Given the description of an element on the screen output the (x, y) to click on. 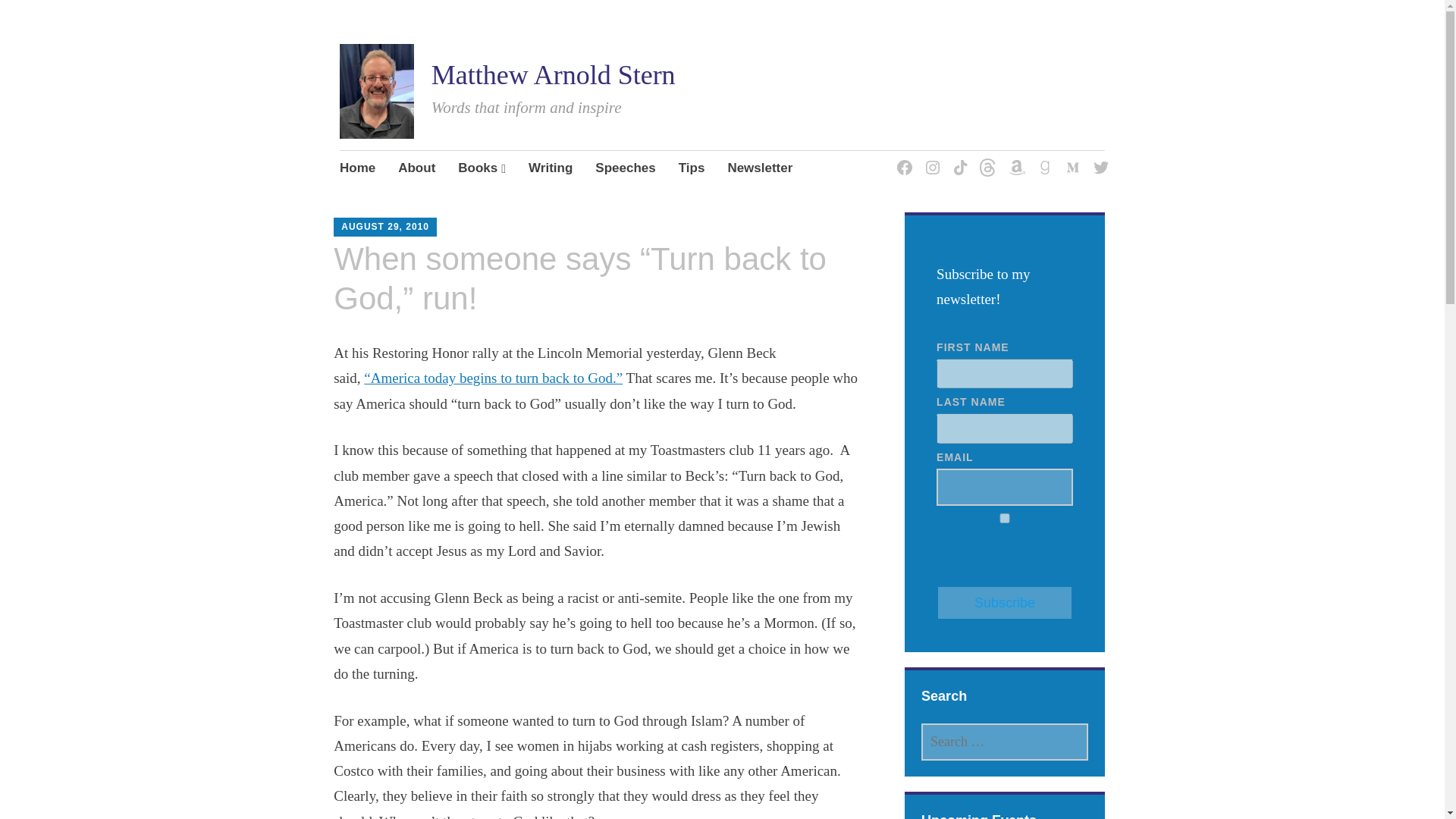
Home (357, 169)
Books (481, 169)
MATTHEW ARNOLD STERN (471, 232)
Matthew Arnold Stern (552, 74)
Writing (550, 169)
About (416, 169)
Subscribe (1004, 602)
on (1004, 518)
Speeches (625, 169)
Newsletter (759, 169)
AUGUST 29, 2010 (384, 226)
